Given the description of an element on the screen output the (x, y) to click on. 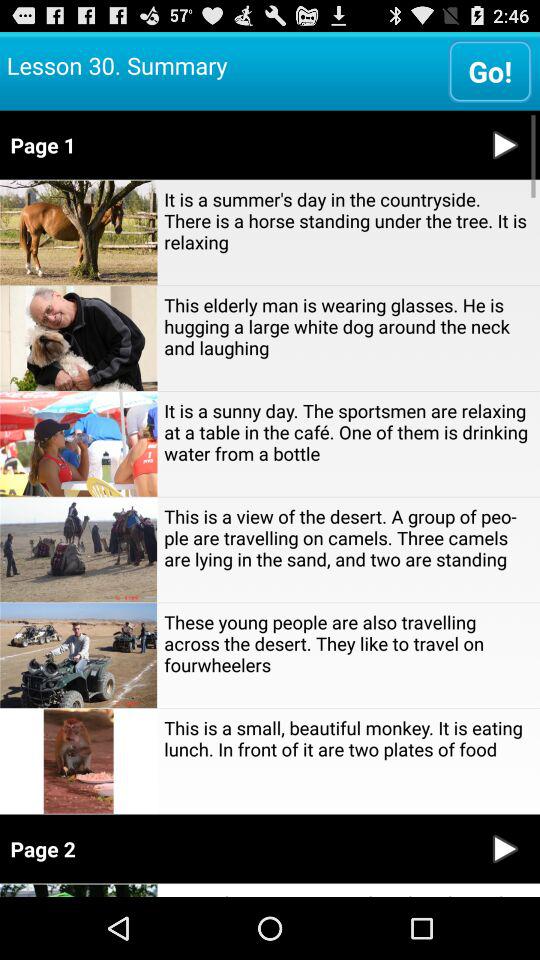
launch the icon next to the lesson 30. summary app (490, 70)
